Given the description of an element on the screen output the (x, y) to click on. 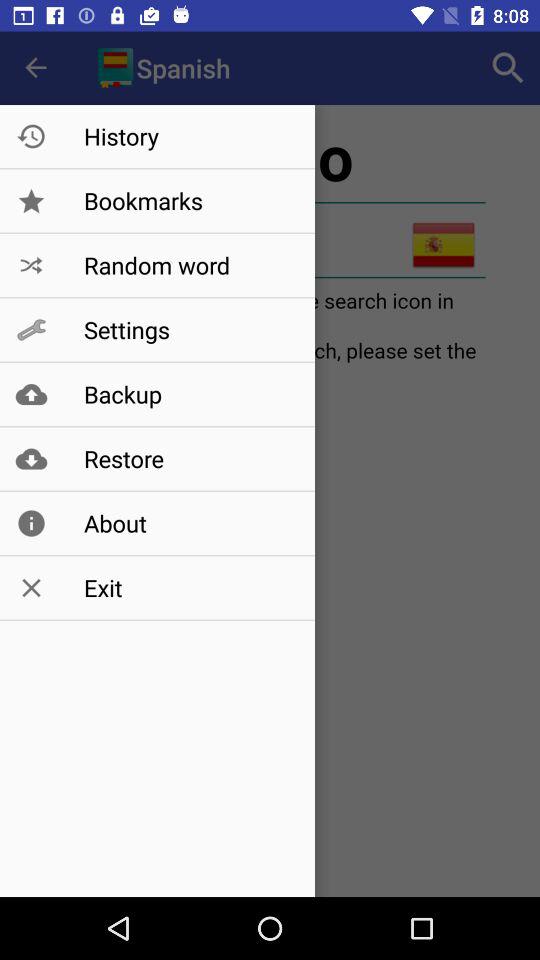
press the item next to history icon (508, 67)
